Given the description of an element on the screen output the (x, y) to click on. 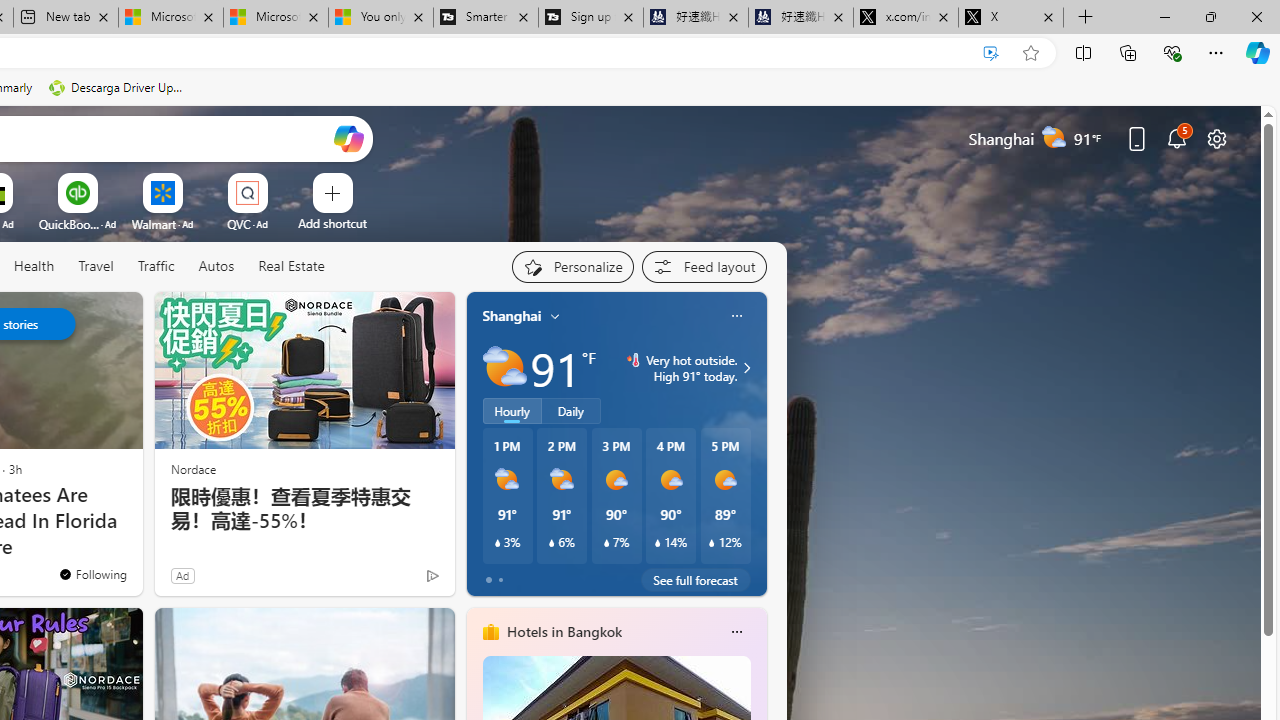
Descarga Driver Updater (118, 88)
You're following The Weather Channel (92, 573)
